Given the description of an element on the screen output the (x, y) to click on. 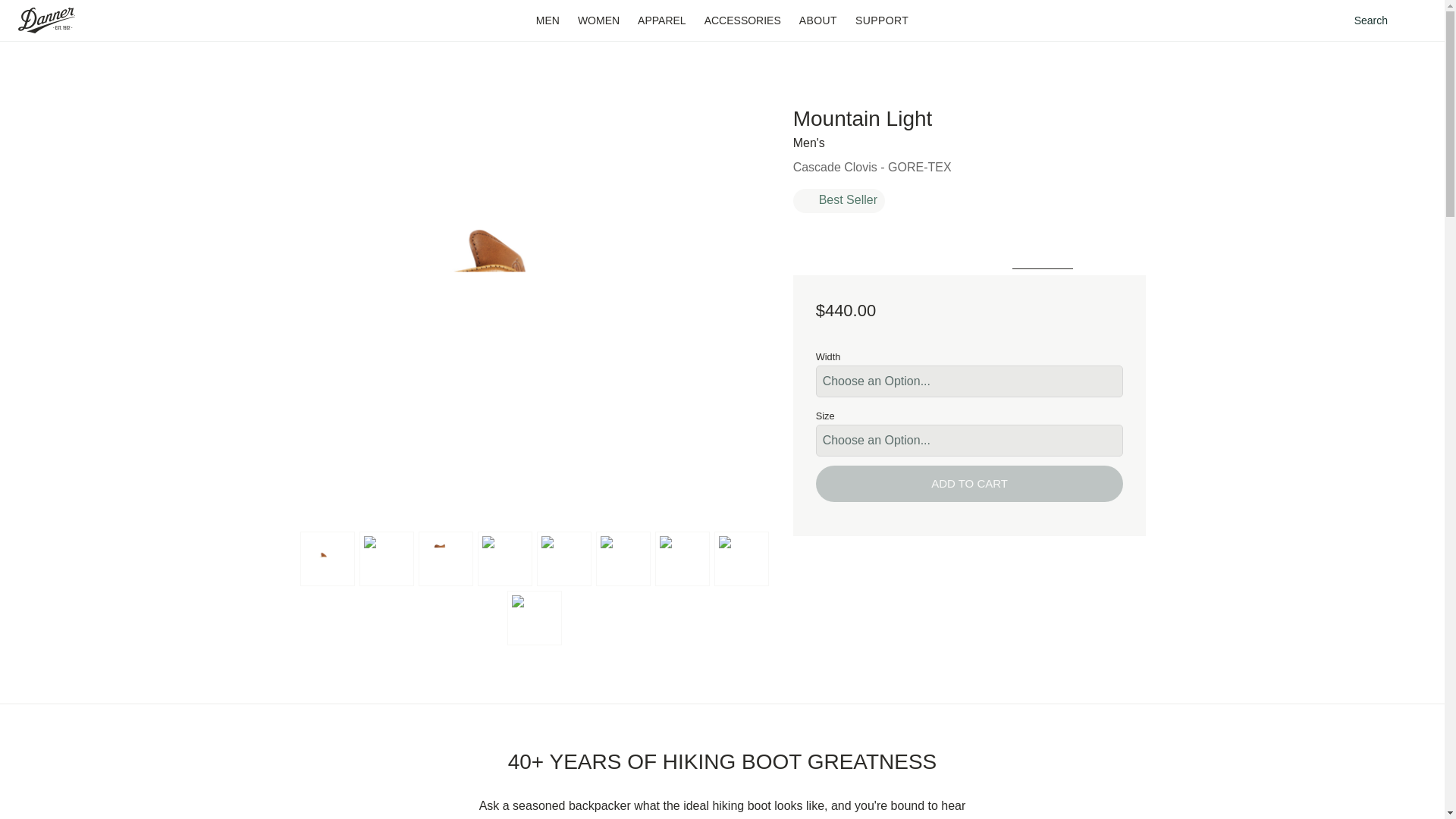
MEN (547, 20)
Danner Homepage (65, 20)
Add to Cart (969, 484)
